Given the description of an element on the screen output the (x, y) to click on. 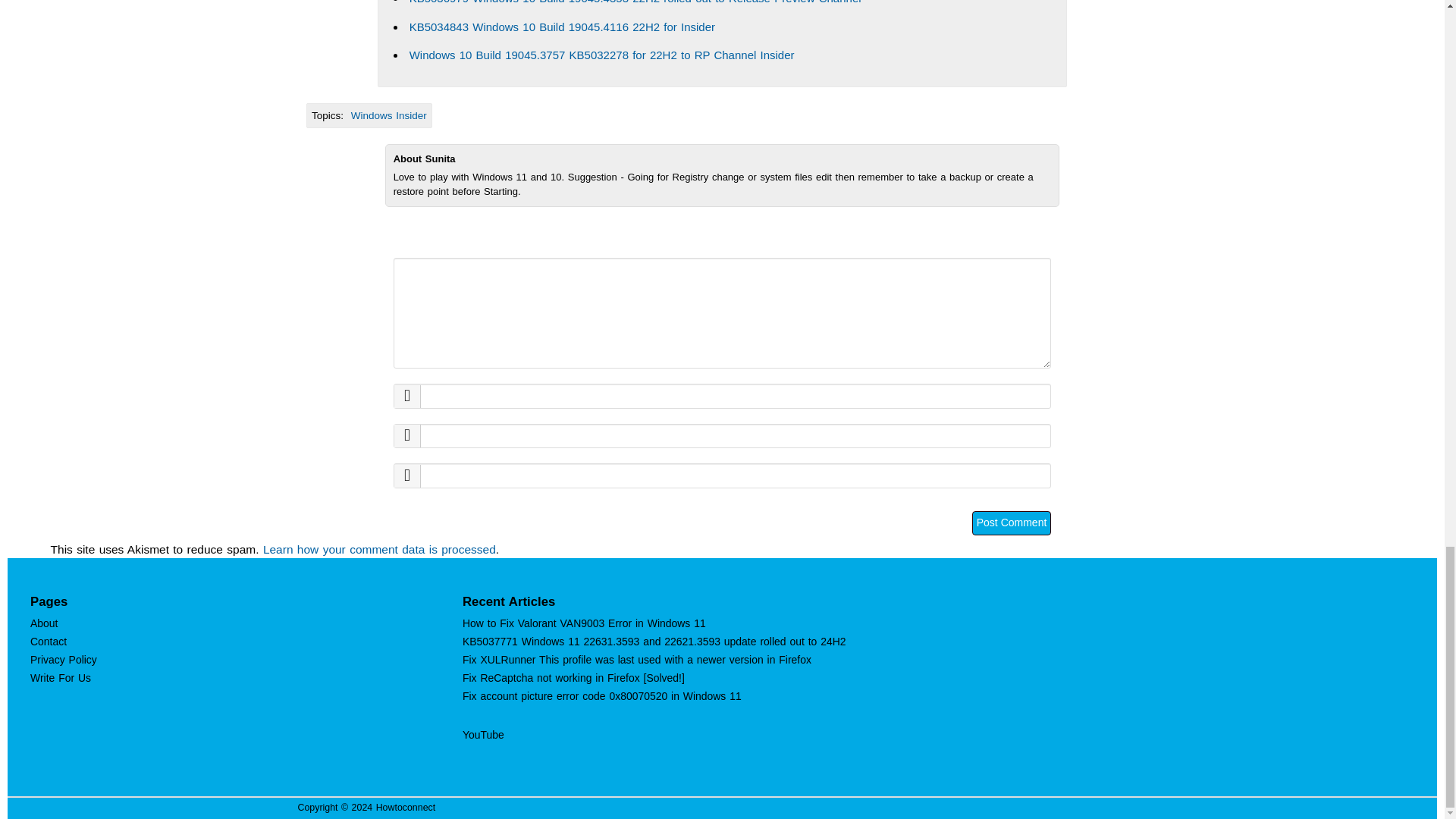
Post Comment (1011, 523)
Contact (48, 641)
Fix account picture error code 0x80070520 in Windows 11 (602, 695)
How to Fix Valorant VAN9003 Error in Windows 11 (584, 623)
Windows Insider (388, 115)
Privacy Policy (63, 659)
KB5034843 Windows 10 Build 19045.4116 22H2 for Insider (561, 26)
Post Comment (1011, 523)
About (44, 623)
Learn how your comment data is processed (379, 549)
YouTube (483, 734)
